Given the description of an element on the screen output the (x, y) to click on. 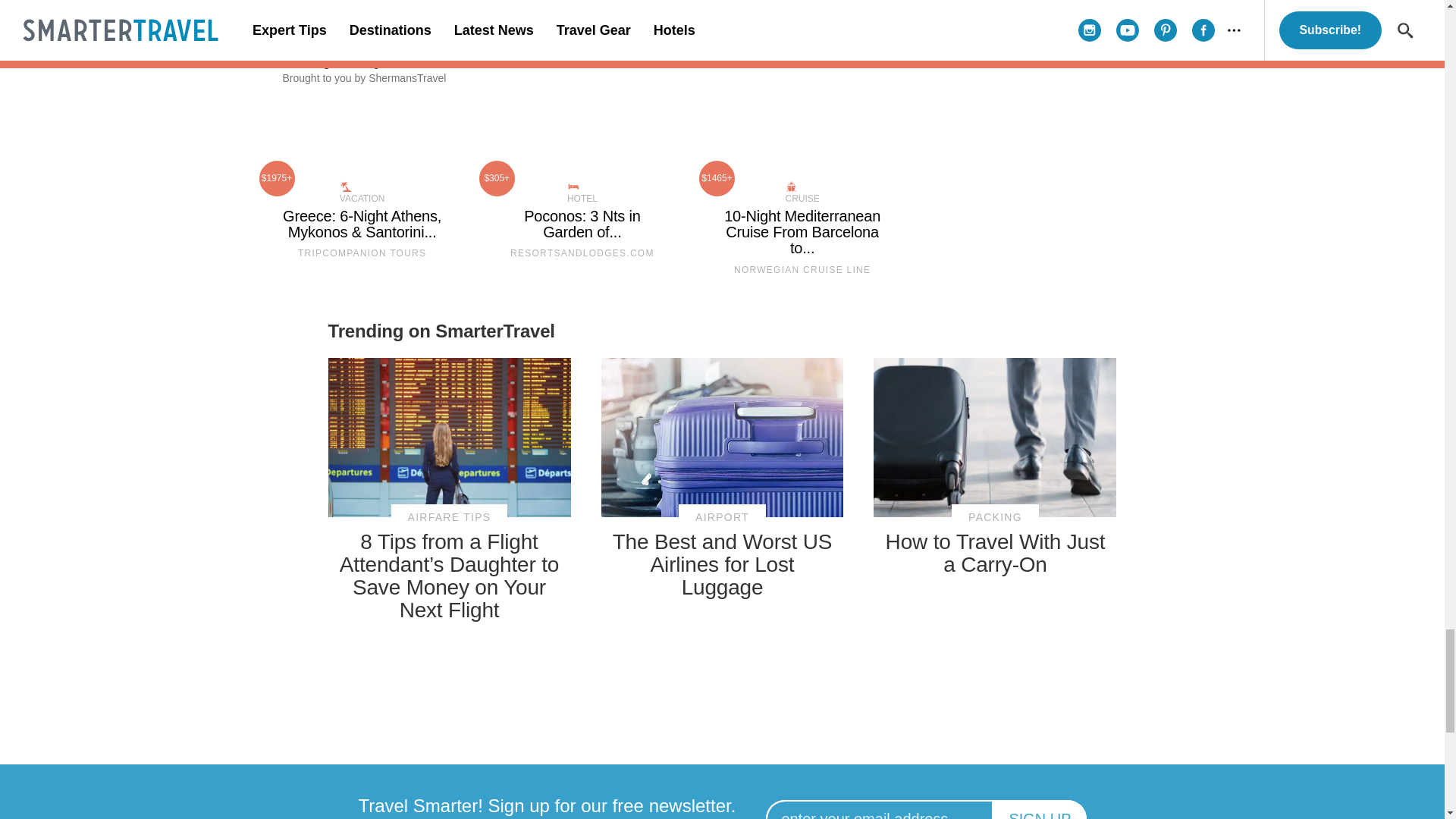
View all posts in Packing (995, 517)
View all posts in Airport (721, 517)
View all posts in Airfare Tips (449, 517)
